Given the description of an element on the screen output the (x, y) to click on. 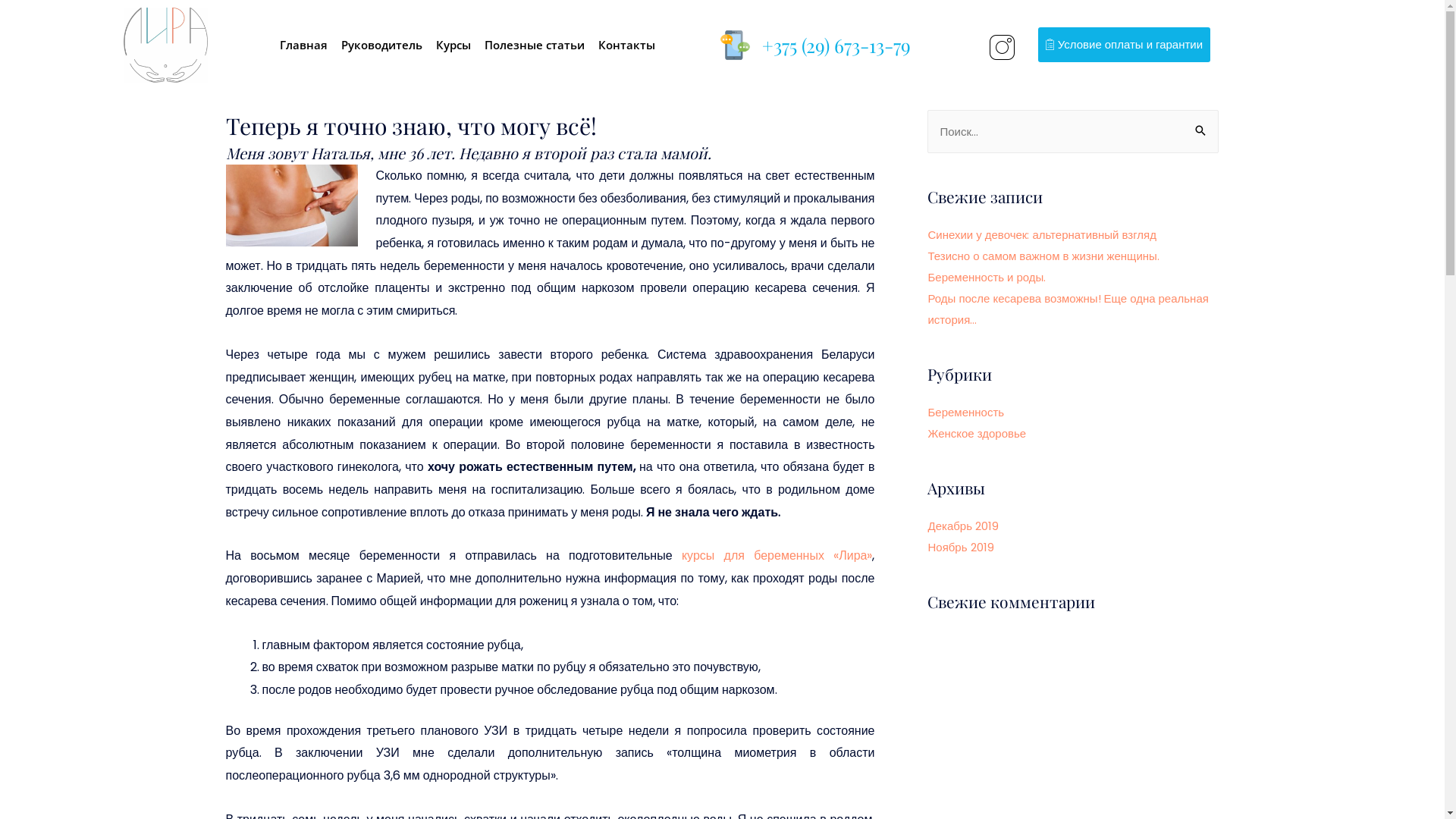
+375 (29) 673-13-79 Element type: text (836, 44)
